Given the description of an element on the screen output the (x, y) to click on. 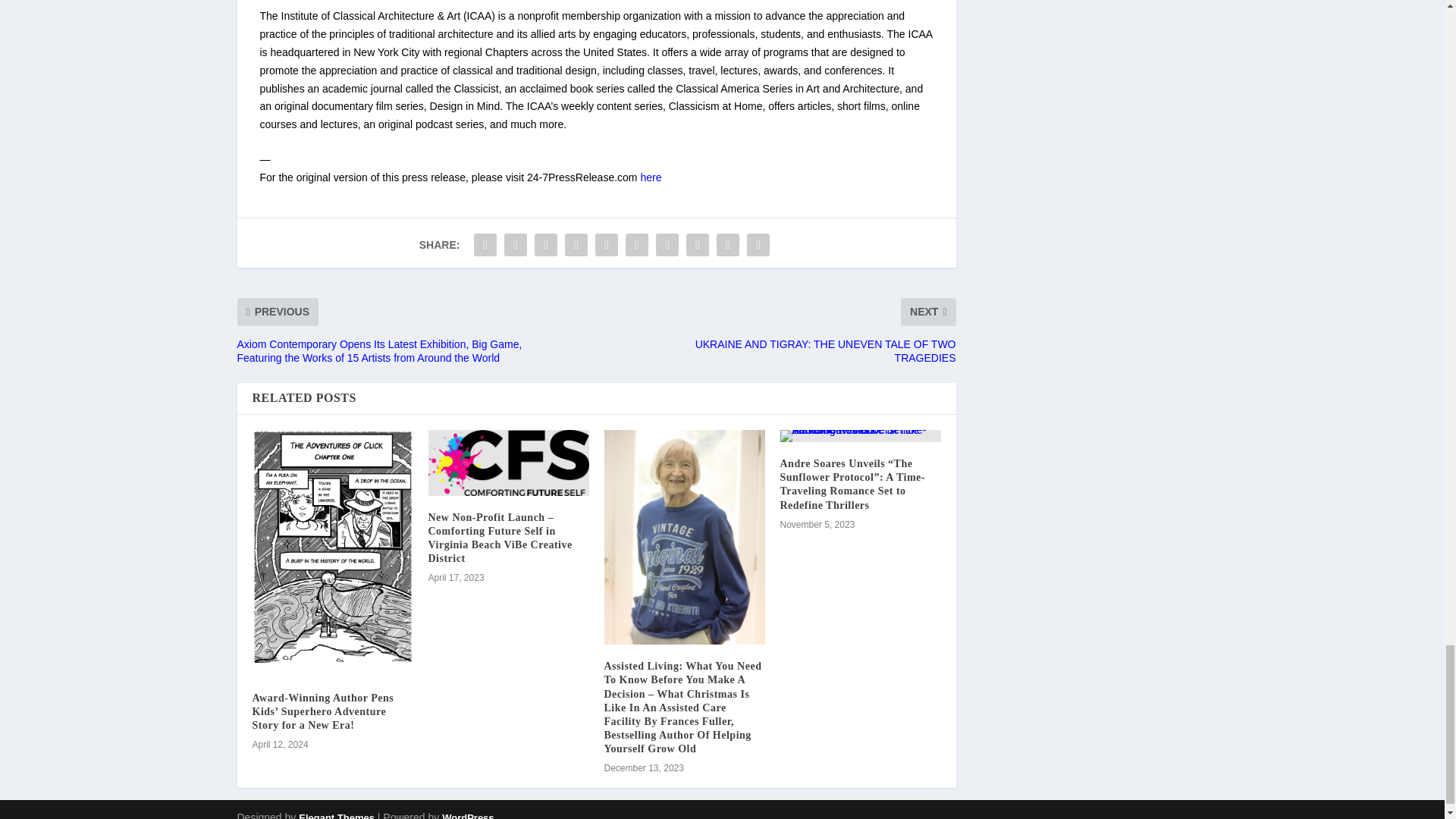
here (650, 177)
